Given the description of an element on the screen output the (x, y) to click on. 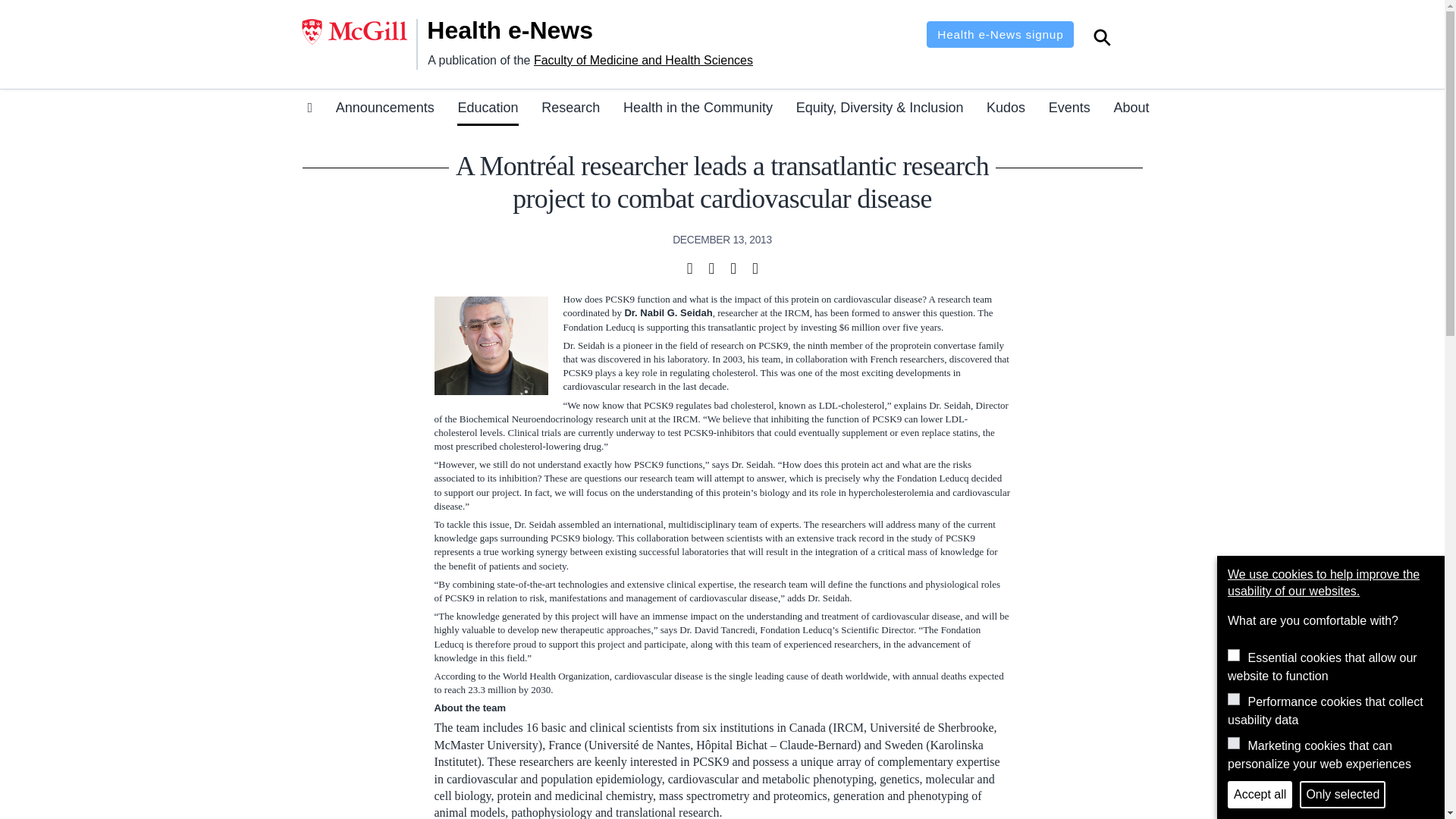
performance (1233, 698)
Education (487, 110)
Research (570, 110)
Search (1102, 40)
Faculty of Medicine and Health Sciences (643, 60)
Kudos (1006, 110)
required (1233, 654)
Announcements (384, 110)
Health e-News signup (1000, 34)
Health e-News (529, 30)
Search (1102, 40)
About (1130, 110)
Health in the Community (698, 110)
marketing (1233, 743)
Home (529, 30)
